Given the description of an element on the screen output the (x, y) to click on. 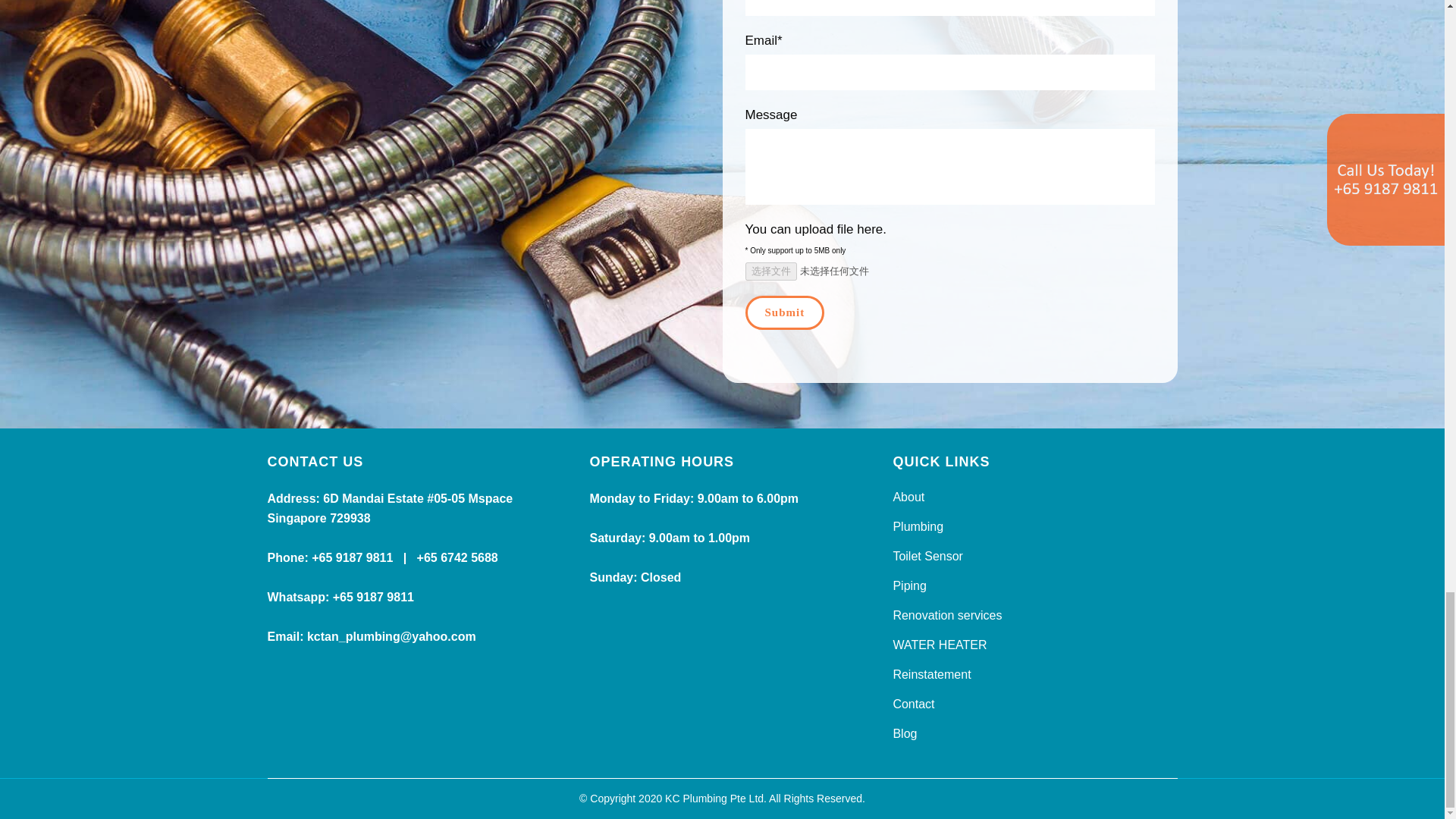
Plumbing (1034, 526)
Submit (784, 312)
Submit (784, 312)
Piping (1034, 586)
WATER HEATER (1034, 645)
Blog (1034, 733)
Reinstatement (1034, 674)
Renovation services (1034, 615)
Contact (1034, 704)
About (1034, 497)
Toilet Sensor (1034, 556)
